Given the description of an element on the screen output the (x, y) to click on. 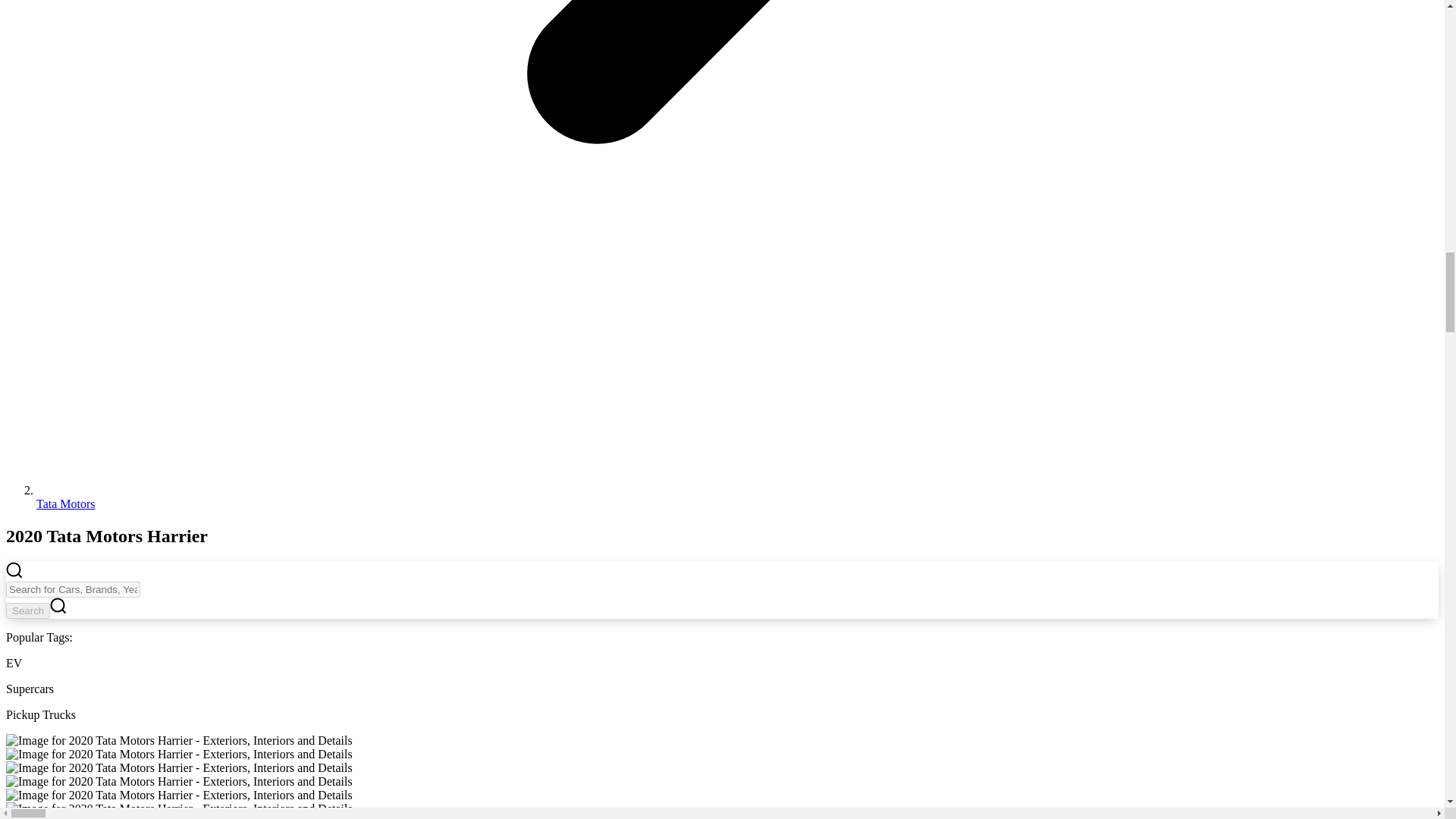
Search (27, 610)
Tata Motors (66, 503)
